Given the description of an element on the screen output the (x, y) to click on. 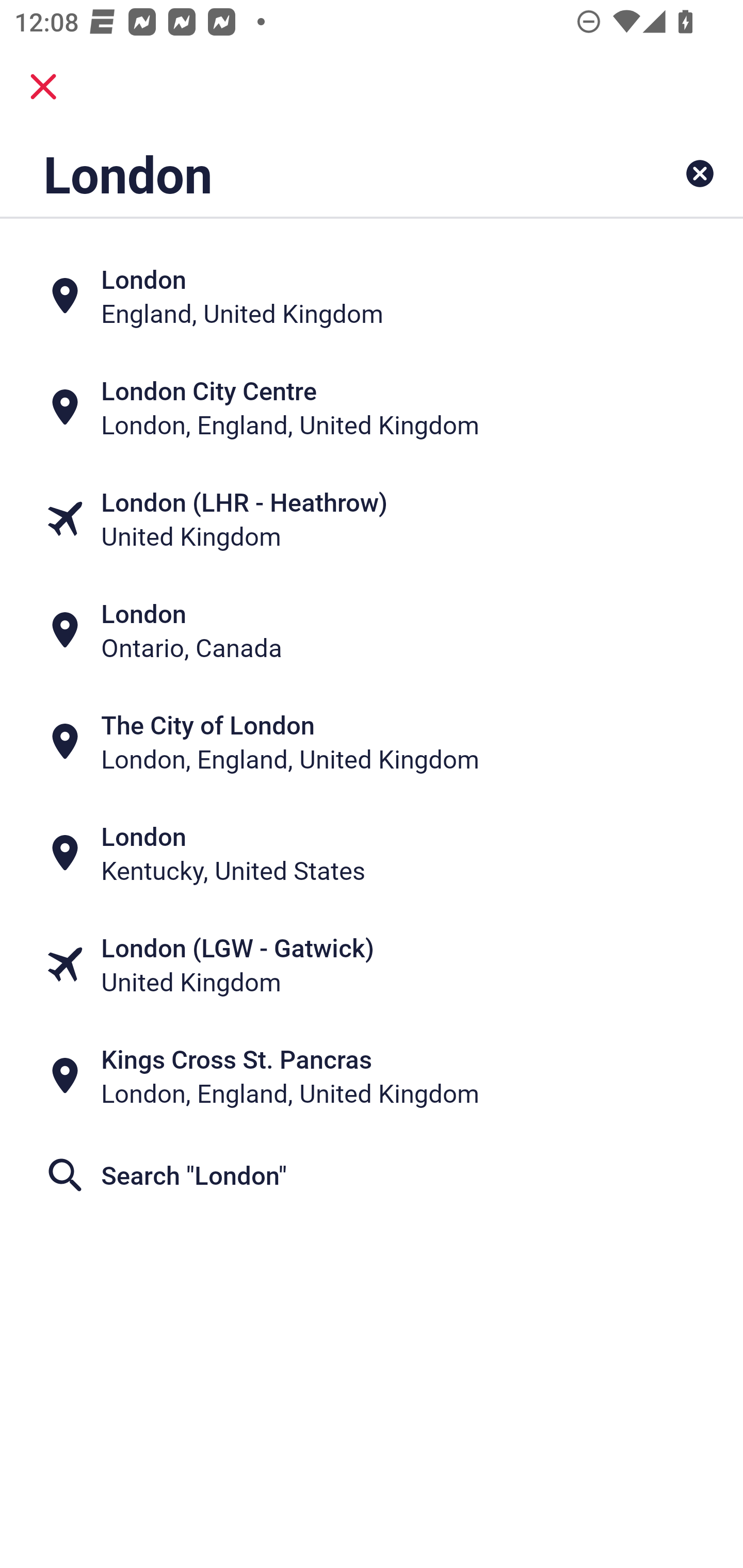
close. (43, 86)
Clear (699, 173)
London (306, 173)
London England, United Kingdom (371, 295)
London City Centre London, England, United Kingdom (371, 406)
London (LHR - Heathrow) United Kingdom (371, 517)
London Ontario, Canada (371, 629)
The City of London London, England, United Kingdom (371, 742)
London Kentucky, United States (371, 853)
London (LGW - Gatwick) United Kingdom (371, 964)
Search "London" (371, 1175)
